Given the description of an element on the screen output the (x, y) to click on. 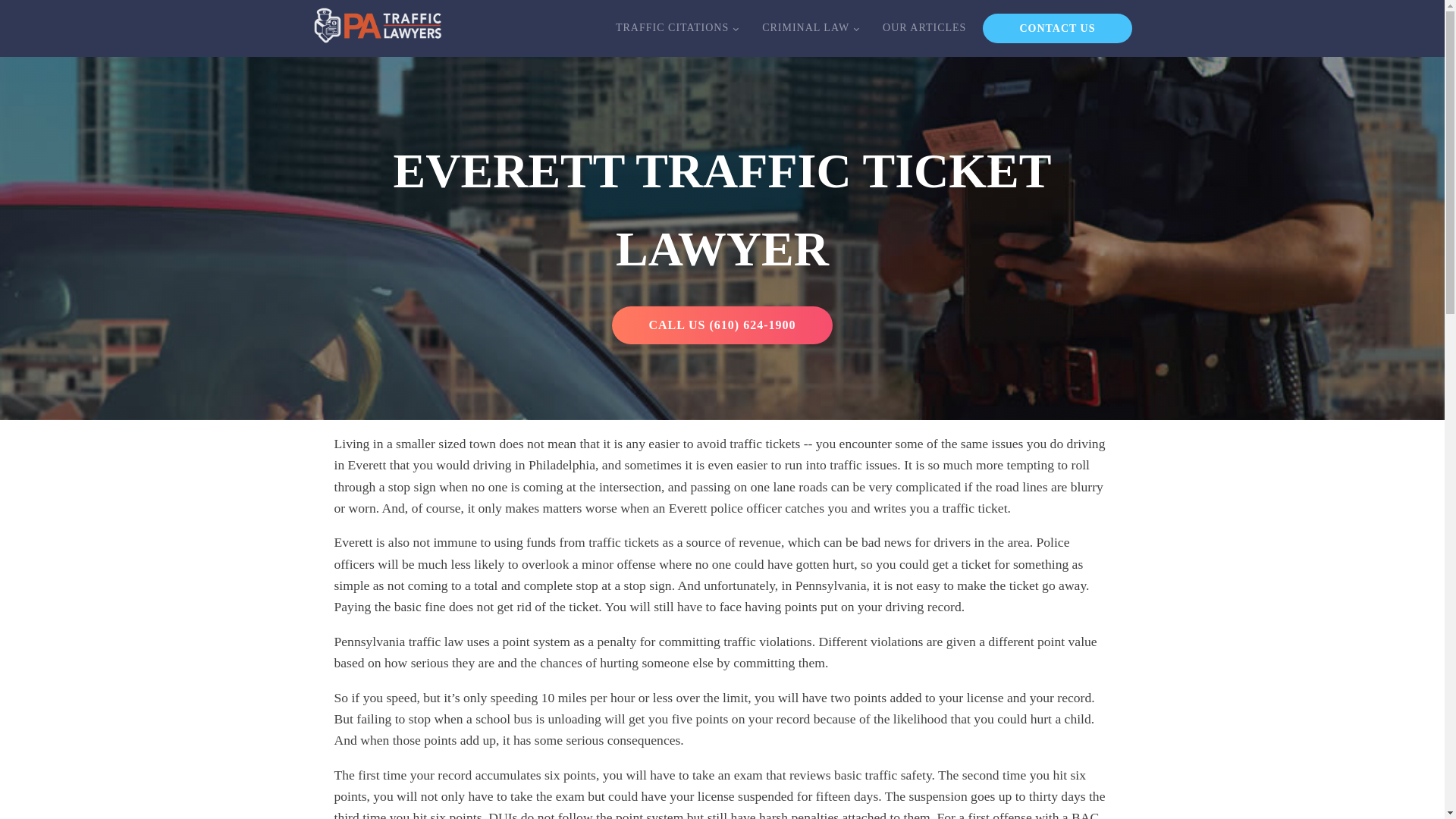
OUR ARTICLES (924, 27)
CRIMINAL LAW (809, 27)
CONTACT US (1056, 28)
TRAFFIC CITATIONS (676, 27)
